Given the description of an element on the screen output the (x, y) to click on. 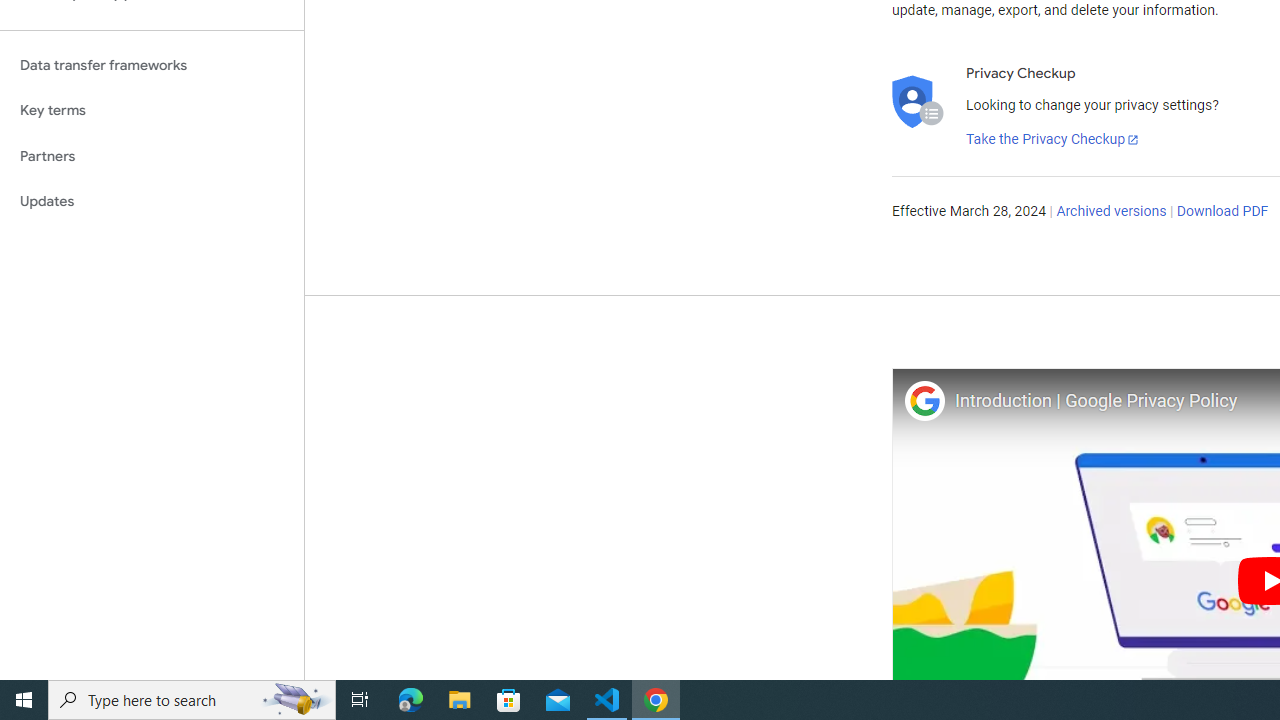
Photo image of Google (924, 400)
Download PDF (1222, 212)
Take the Privacy Checkup (1053, 140)
Archived versions (1111, 212)
